Given the description of an element on the screen output the (x, y) to click on. 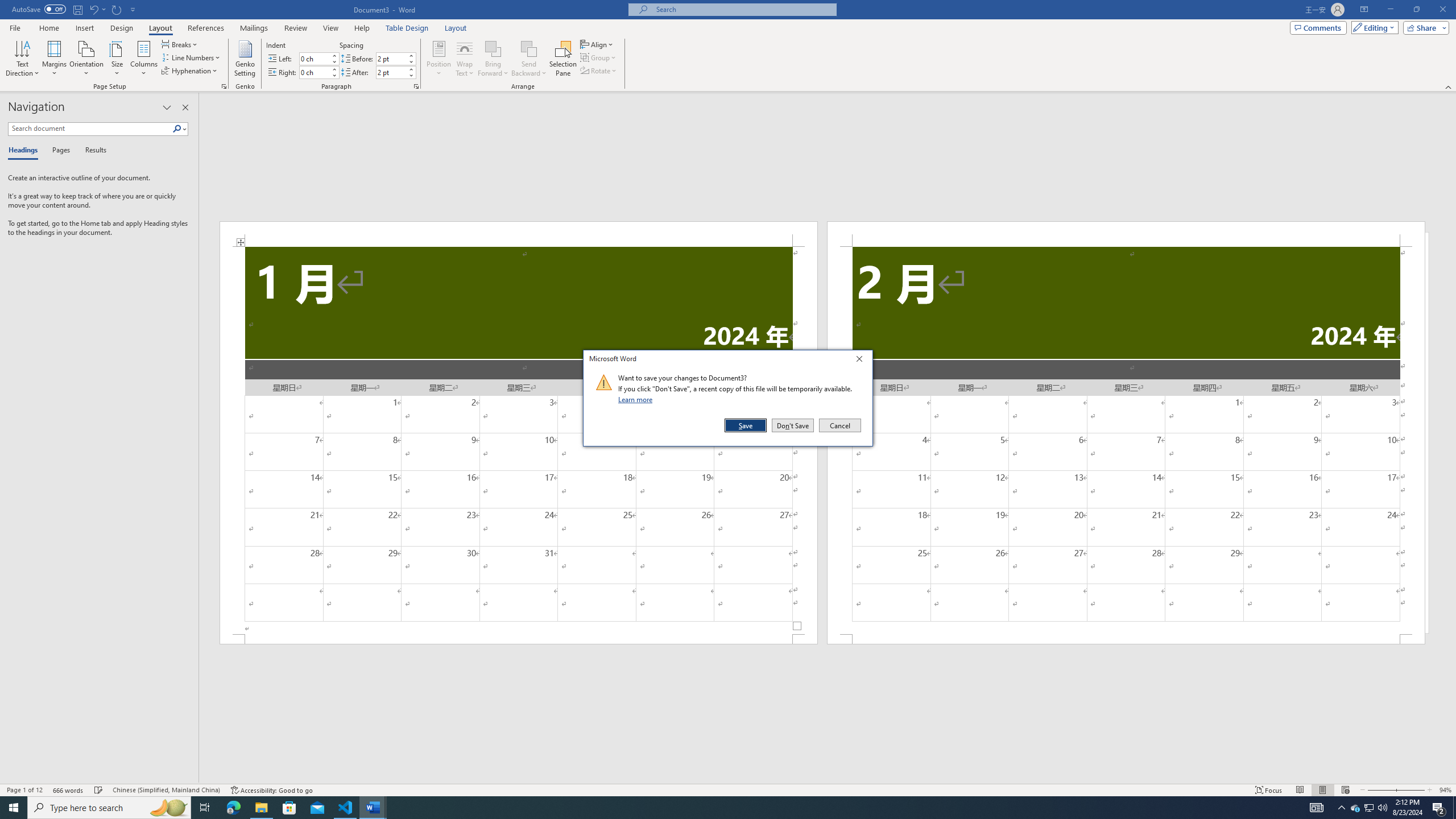
Less (411, 75)
Genko Setting... (244, 58)
